Given the description of an element on the screen output the (x, y) to click on. 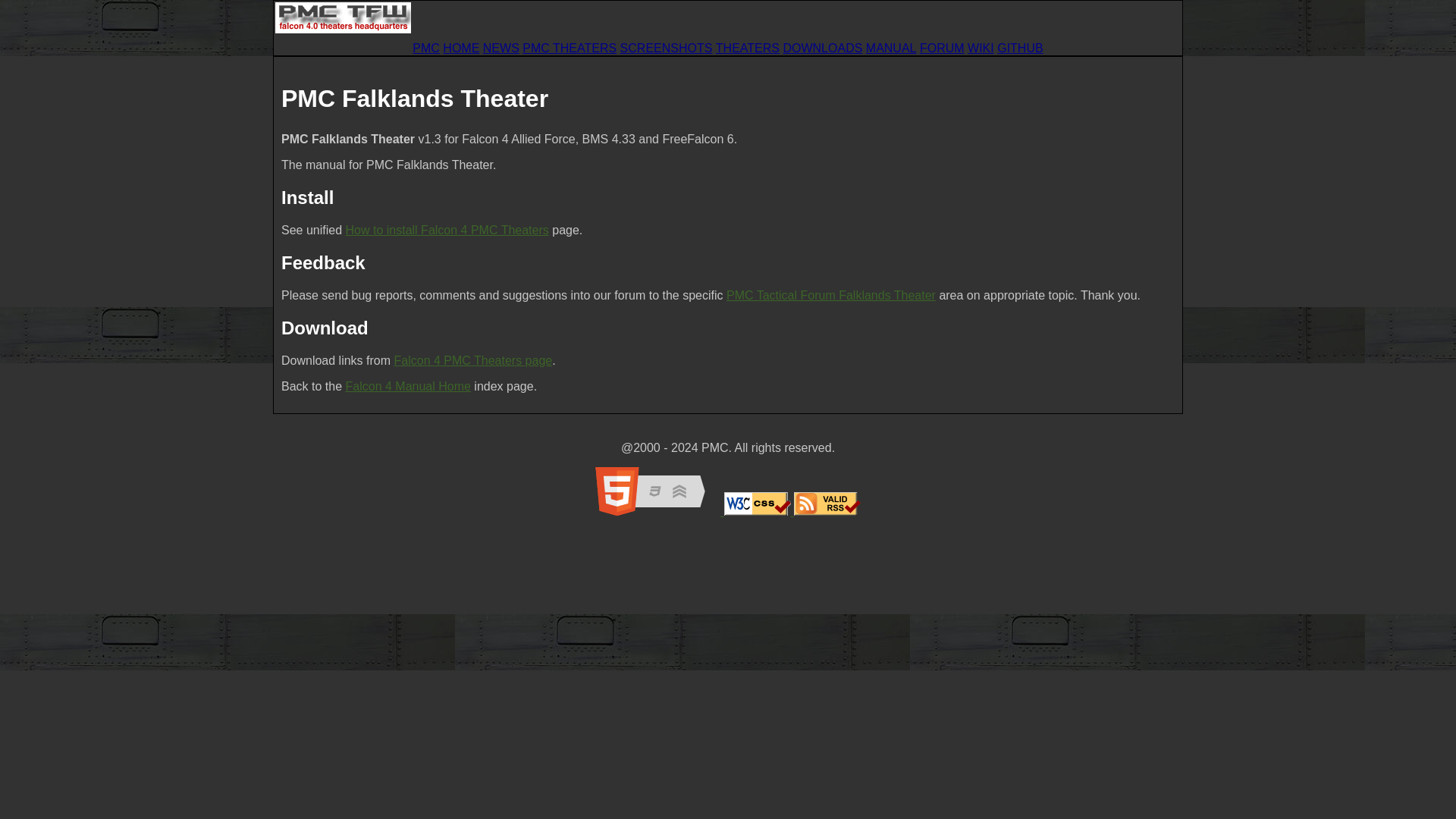
DOWNLOADS (822, 47)
How to install Falcon 4 PMC Theaters (447, 229)
Falcon 4 PMC Theaters page (473, 359)
Falcon 4 Manual Home (408, 386)
PMC THEATERS (568, 47)
HOME (460, 47)
SCREENSHOTS (666, 47)
PMC (425, 47)
THEATERS (747, 47)
NEWS (501, 47)
